Given the description of an element on the screen output the (x, y) to click on. 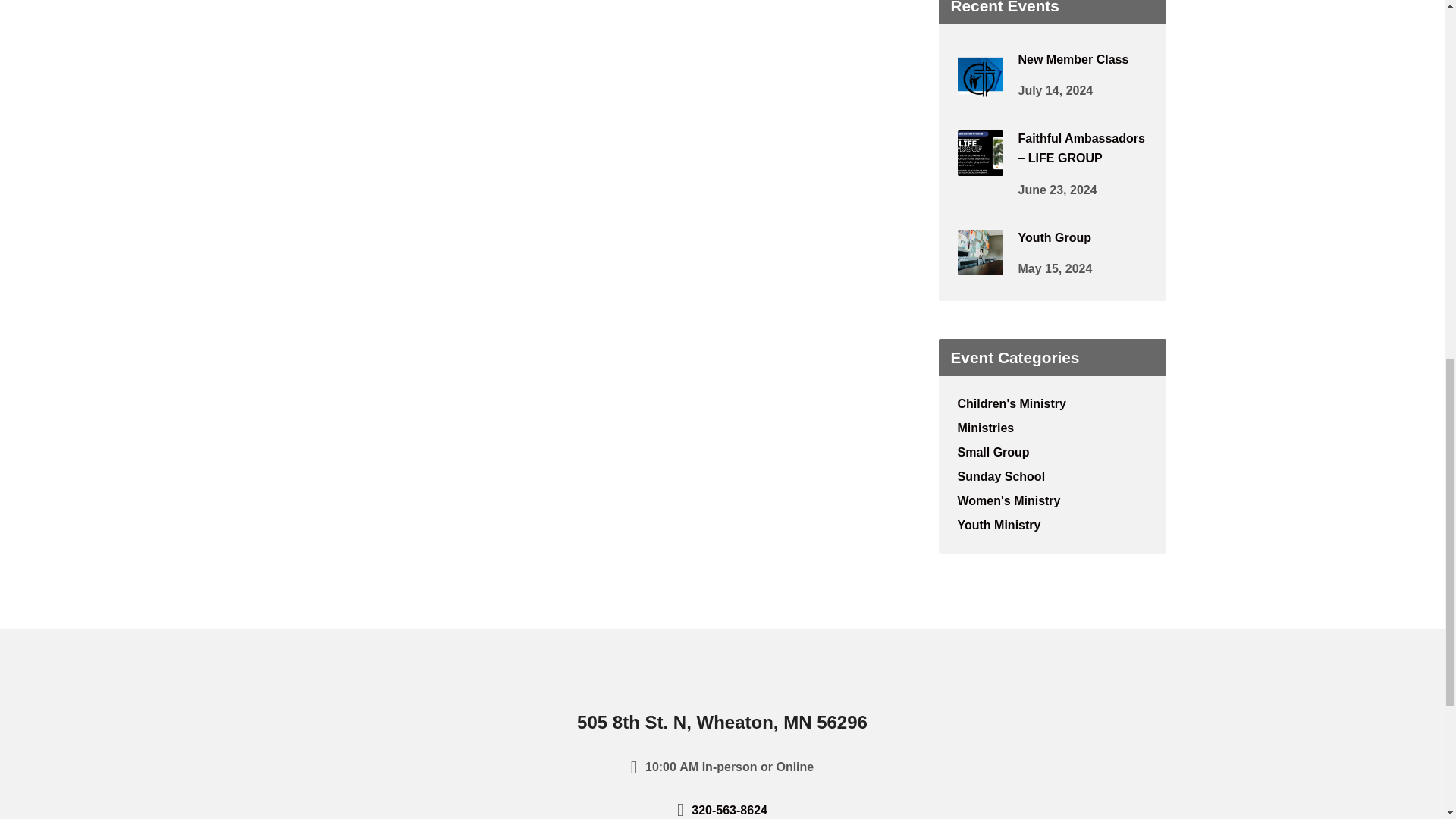
New Member Class (979, 86)
New Member Class (1072, 59)
Youth Group (979, 264)
Youth Group (1053, 237)
